Given the description of an element on the screen output the (x, y) to click on. 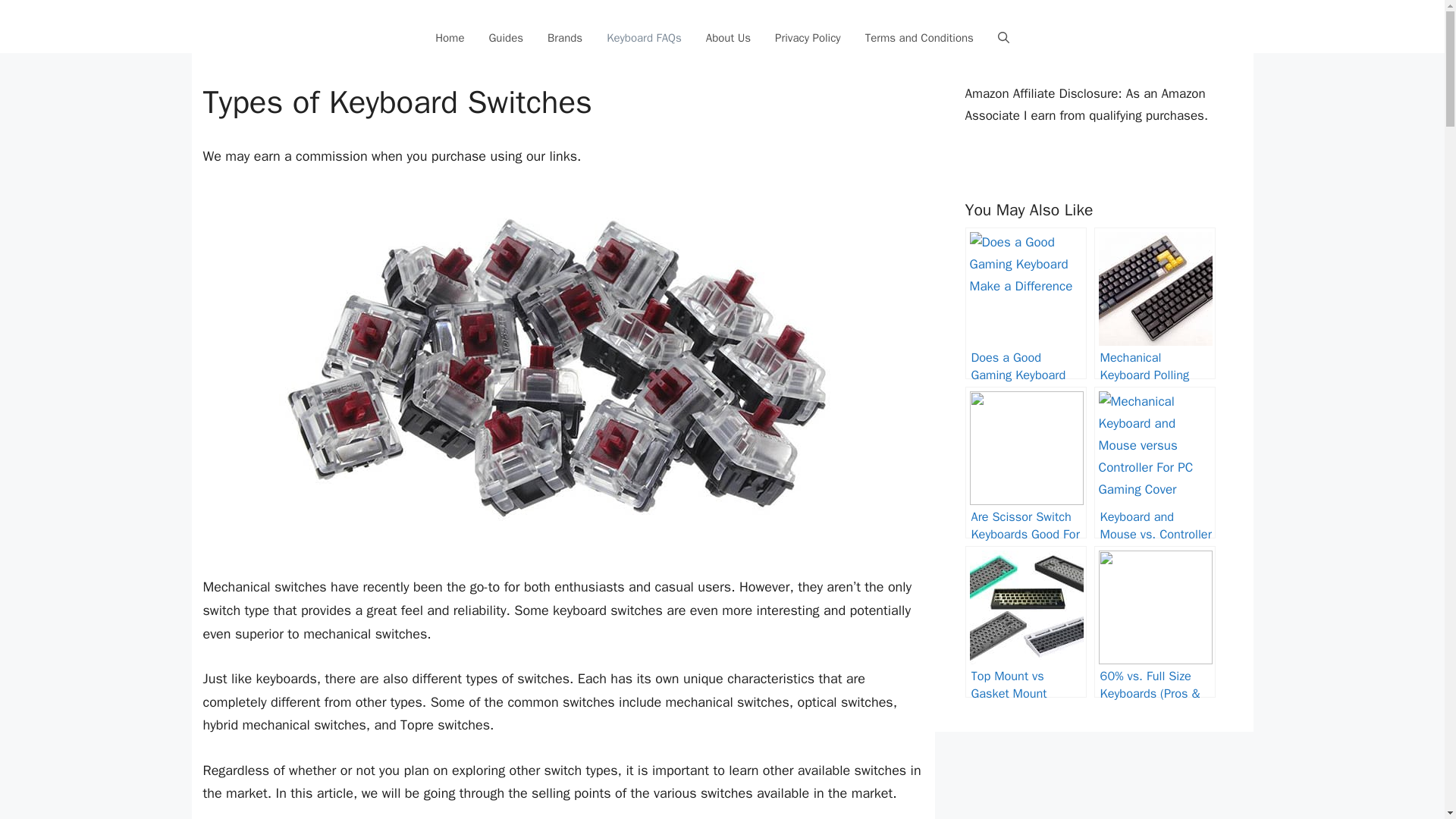
Keyboard FAQs (644, 37)
Brands (564, 37)
Guides (505, 37)
Terms and Conditions (919, 37)
Home (449, 37)
About Us (728, 37)
Privacy Policy (807, 37)
